Given the description of an element on the screen output the (x, y) to click on. 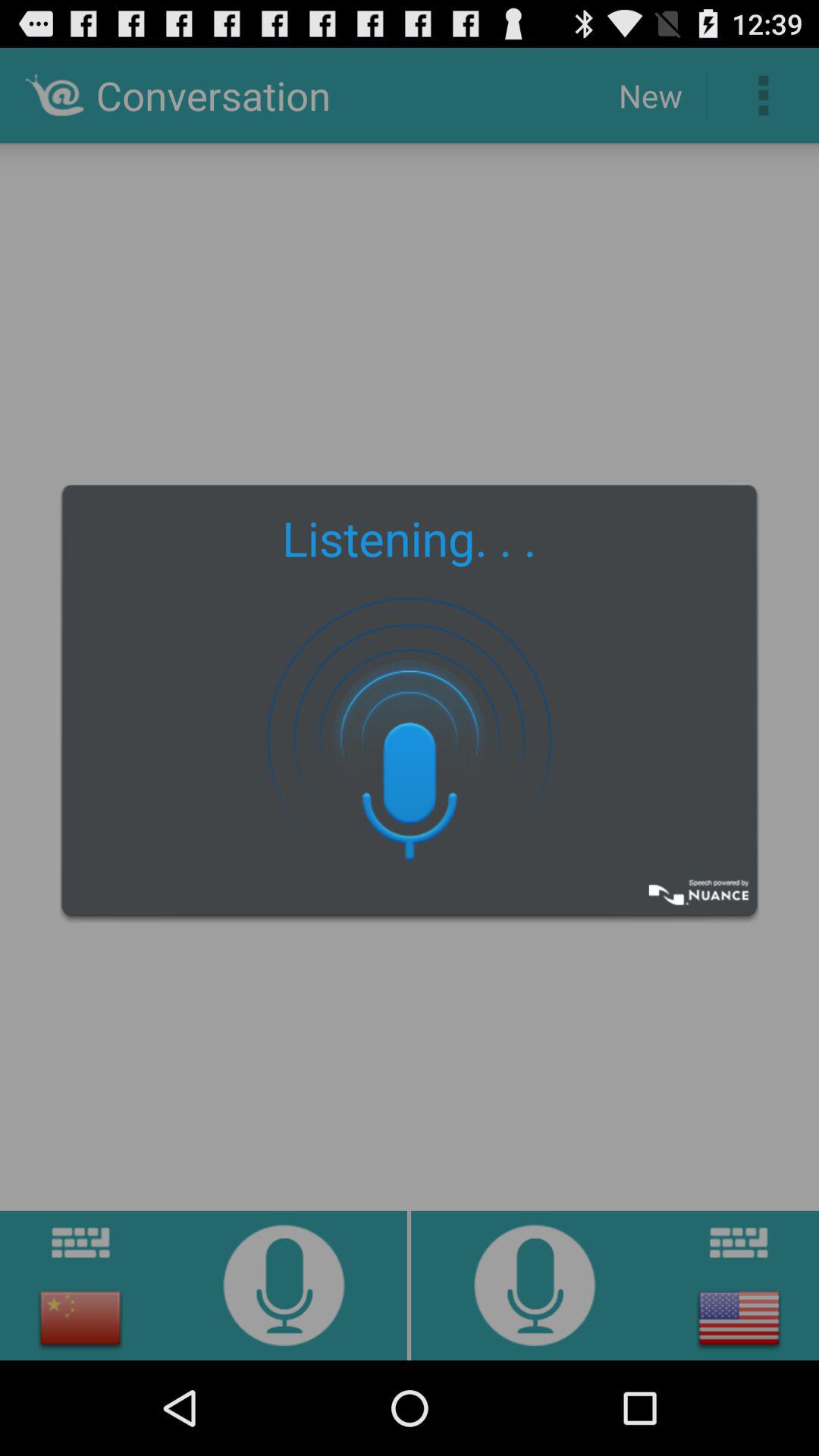
tap icon below listening. . . item (409, 736)
